Given the description of an element on the screen output the (x, y) to click on. 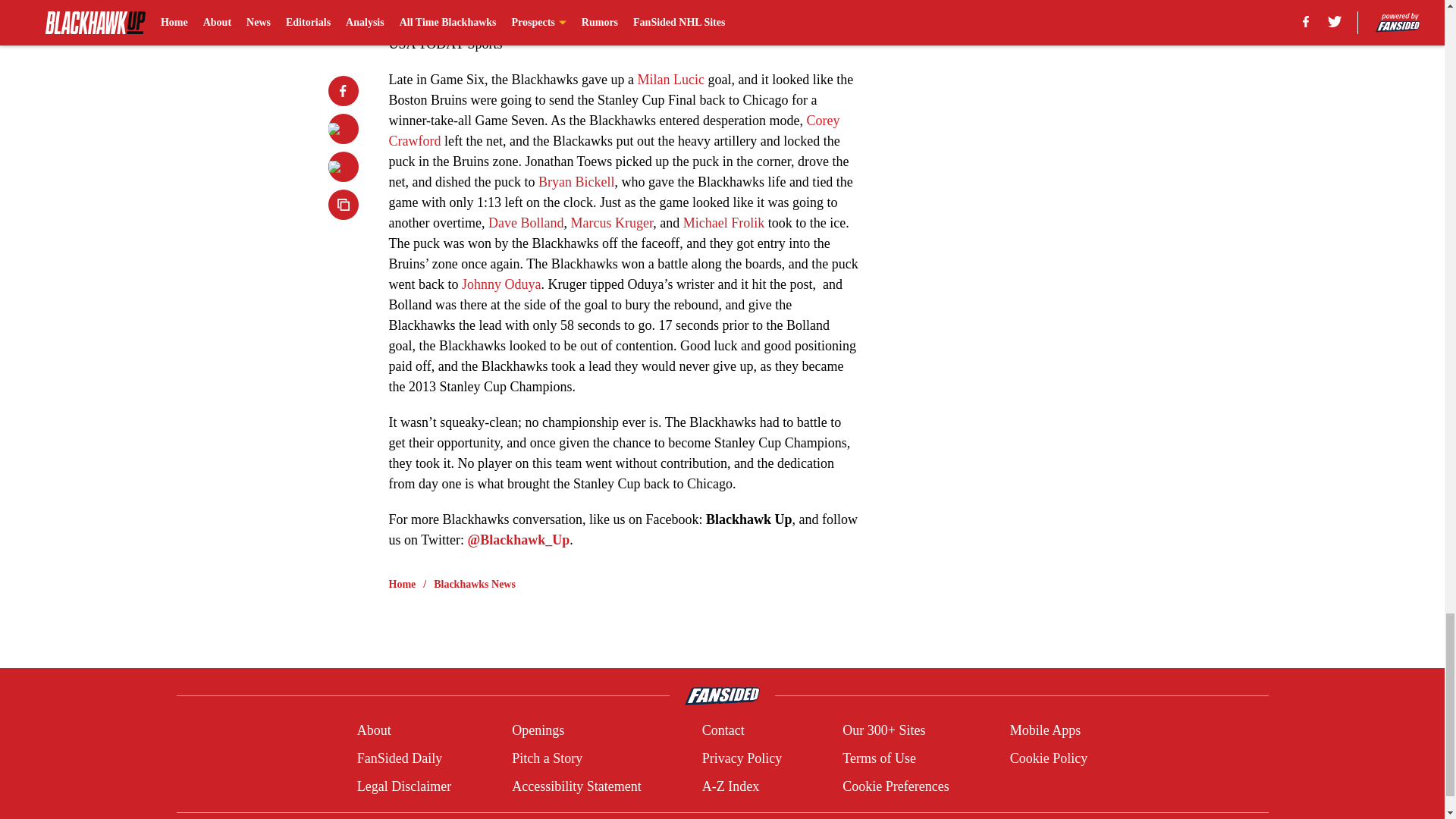
Bryan Bickell (576, 181)
Johnny Oduya (501, 283)
Marcus Kruger (611, 222)
Milan Lucic (670, 79)
Michael Frolik (723, 222)
Corey Crawford (614, 130)
Dave Bolland (525, 222)
